Given the description of an element on the screen output the (x, y) to click on. 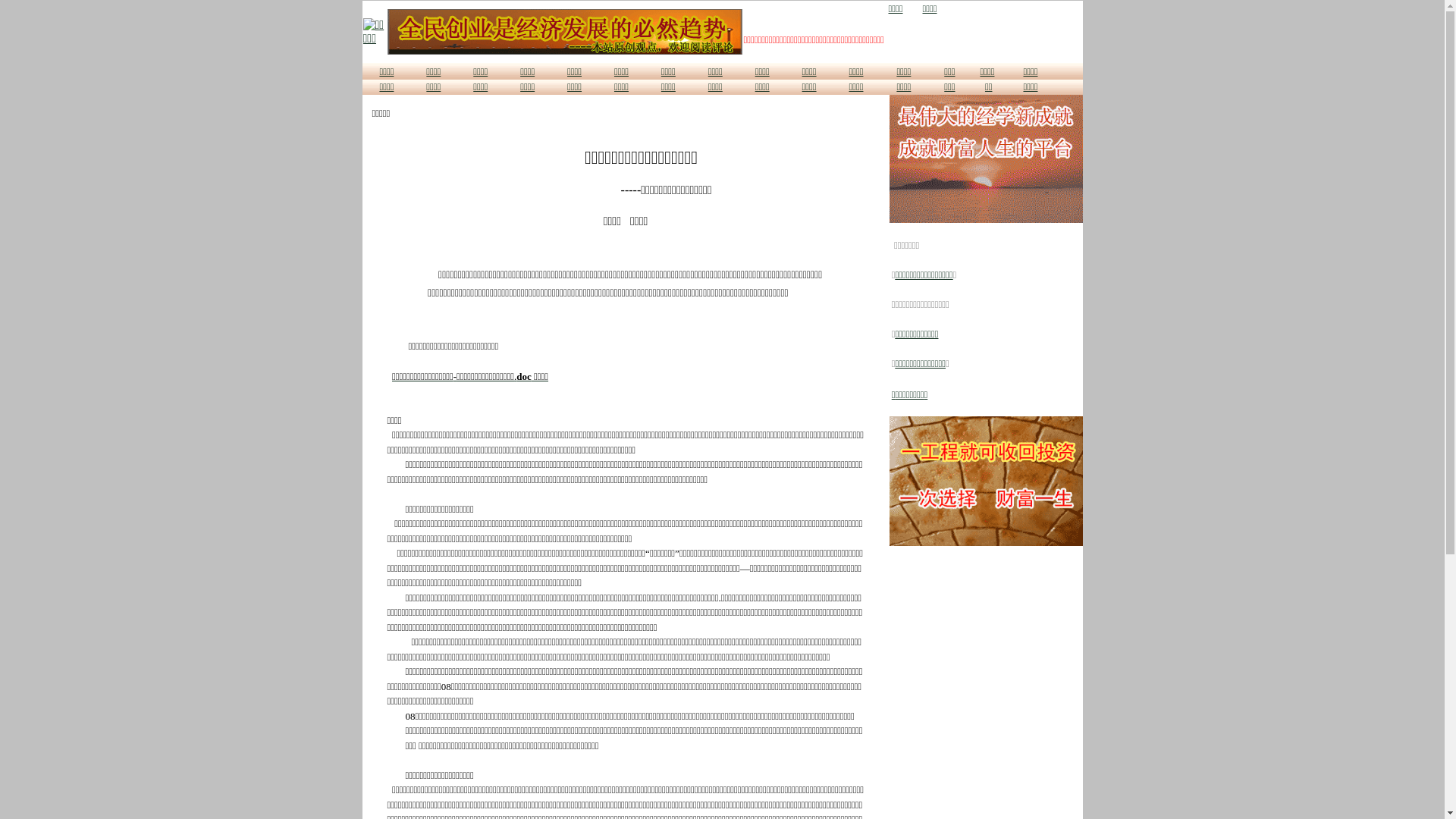
       Element type: text (910, 8)
